Given the description of an element on the screen output the (x, y) to click on. 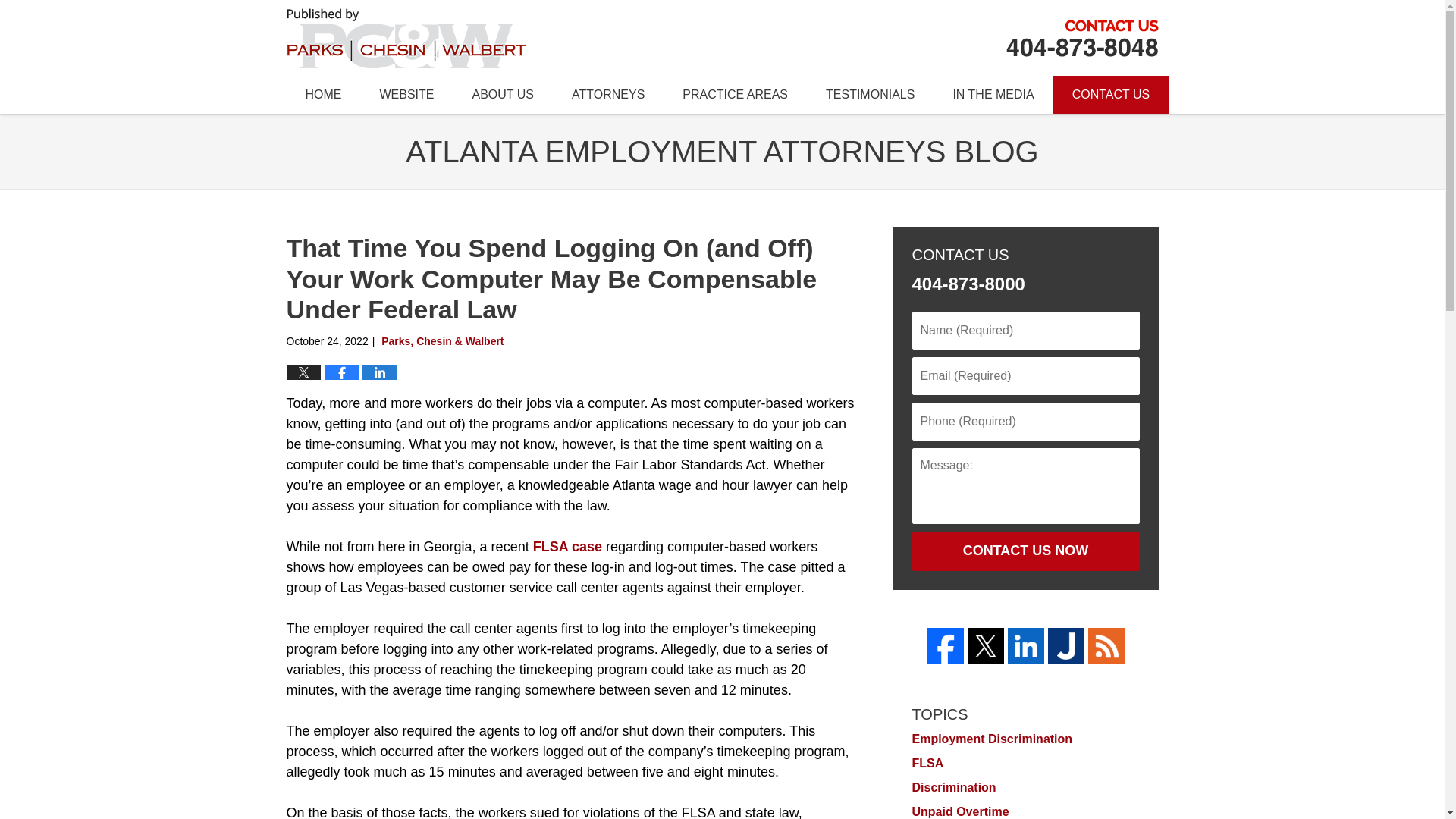
CONTACT US (1110, 94)
Atlanta Employment Attorneys Blog (405, 37)
HOME (323, 94)
Justia (1066, 646)
ATTORNEYS (608, 94)
FLSA case (567, 546)
PRACTICE AREAS (734, 94)
LinkedIn (1025, 646)
TESTIMONIALS (869, 94)
Twitter (986, 646)
Feed (1105, 646)
Facebook (944, 646)
ABOUT US (502, 94)
IN THE MEDIA (992, 94)
WEBSITE (406, 94)
